Given the description of an element on the screen output the (x, y) to click on. 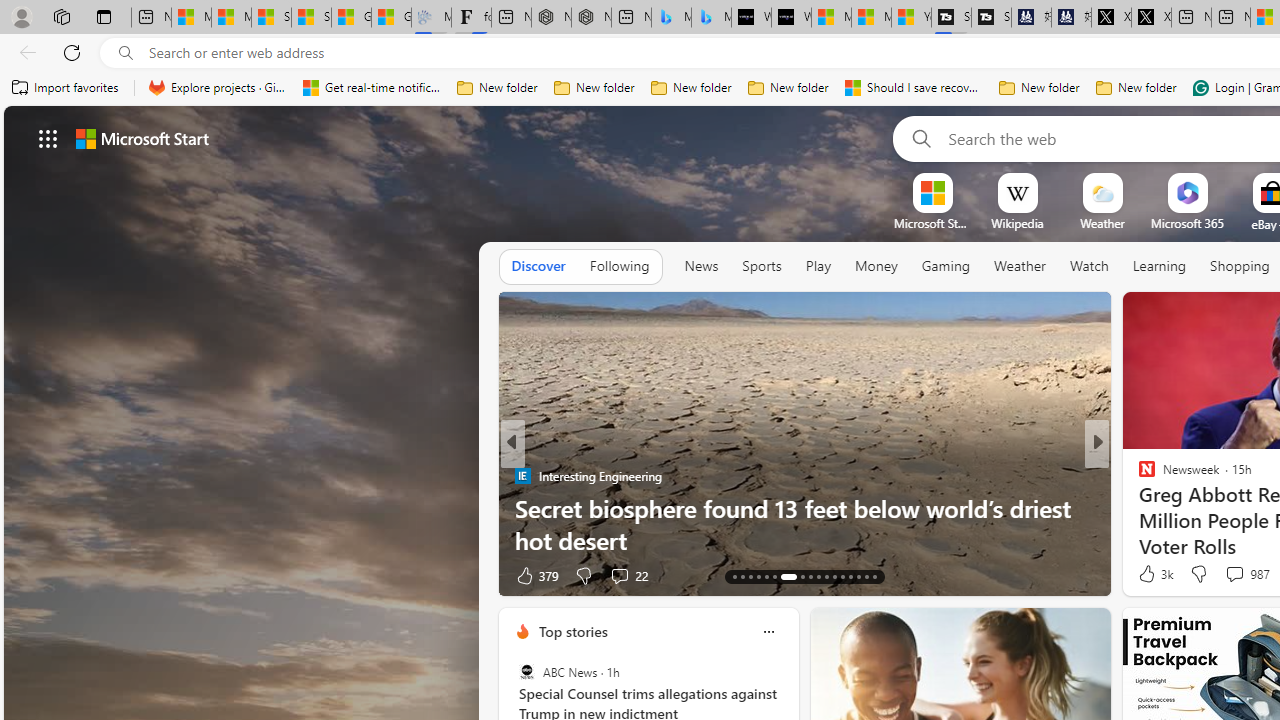
View comments 1 Comment (1229, 575)
AutomationID: waffle (47, 138)
Nordace.com (1165, 507)
The Weather Channel (1138, 475)
The Independent (1138, 475)
Housely (1138, 475)
AutomationID: tab-17 (765, 576)
AutomationID: tab-20 (801, 576)
